Given the description of an element on the screen output the (x, y) to click on. 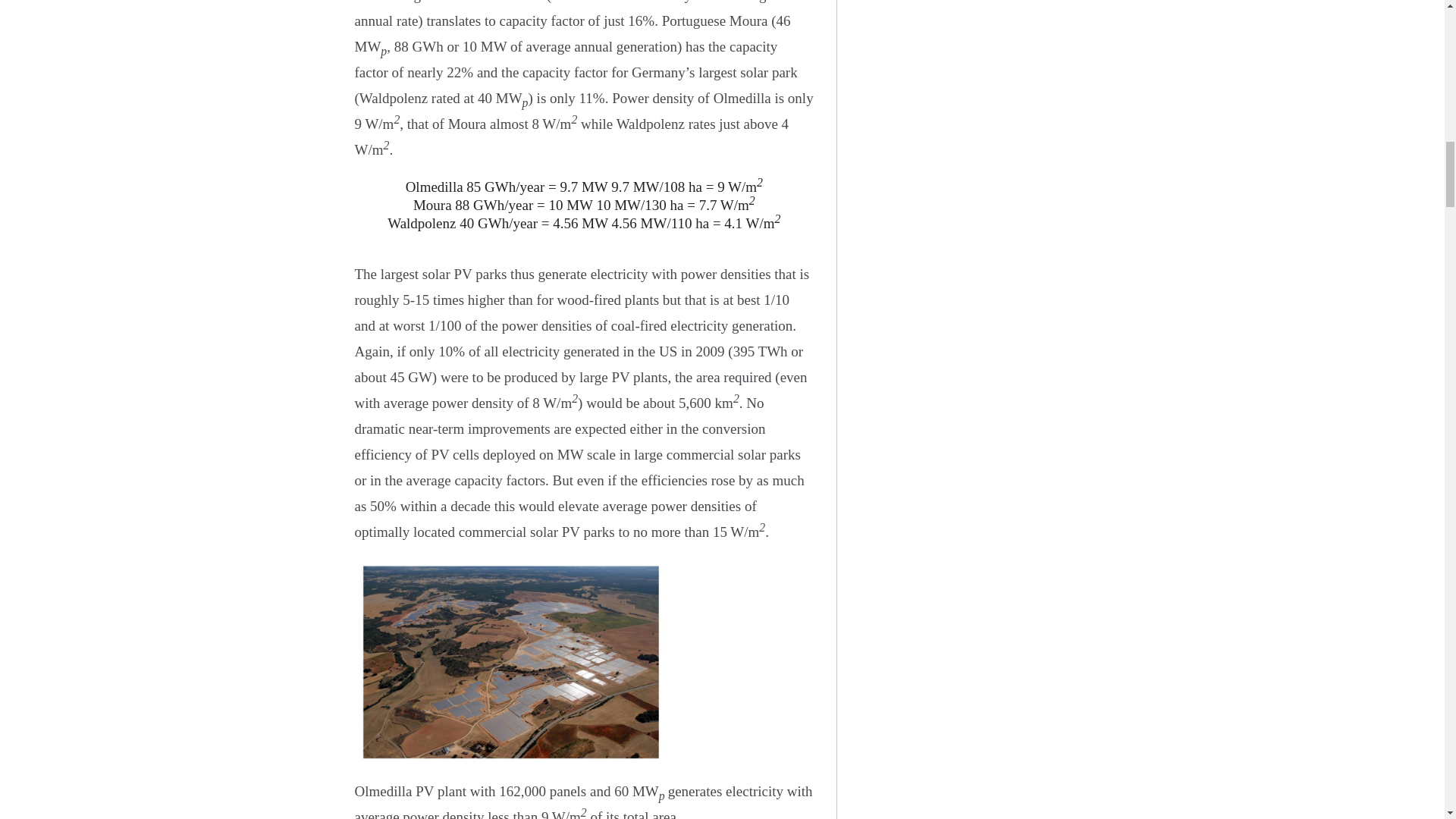
Part IV Olmedilla (511, 661)
